Given the description of an element on the screen output the (x, y) to click on. 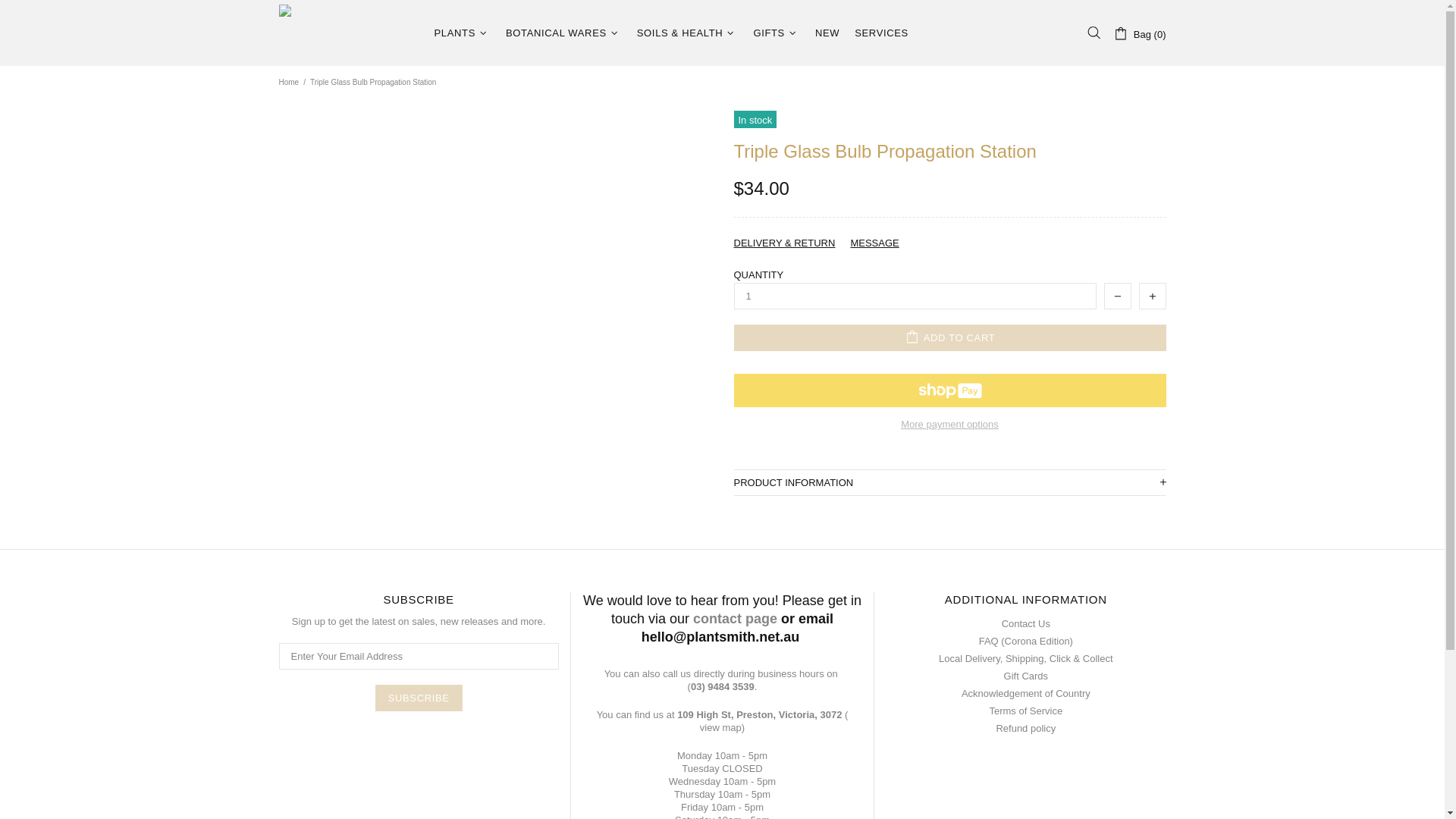
Contact Plantsmith (735, 618)
Call via Hangouts (720, 686)
PLANTS (461, 33)
Plantsmith Directions (720, 727)
BOTANICAL WARES (562, 33)
1 (914, 295)
GIFTS (776, 33)
Plantsmith (346, 32)
SERVICES (881, 33)
Plantsmith Location Map (759, 714)
